Given the description of an element on the screen output the (x, y) to click on. 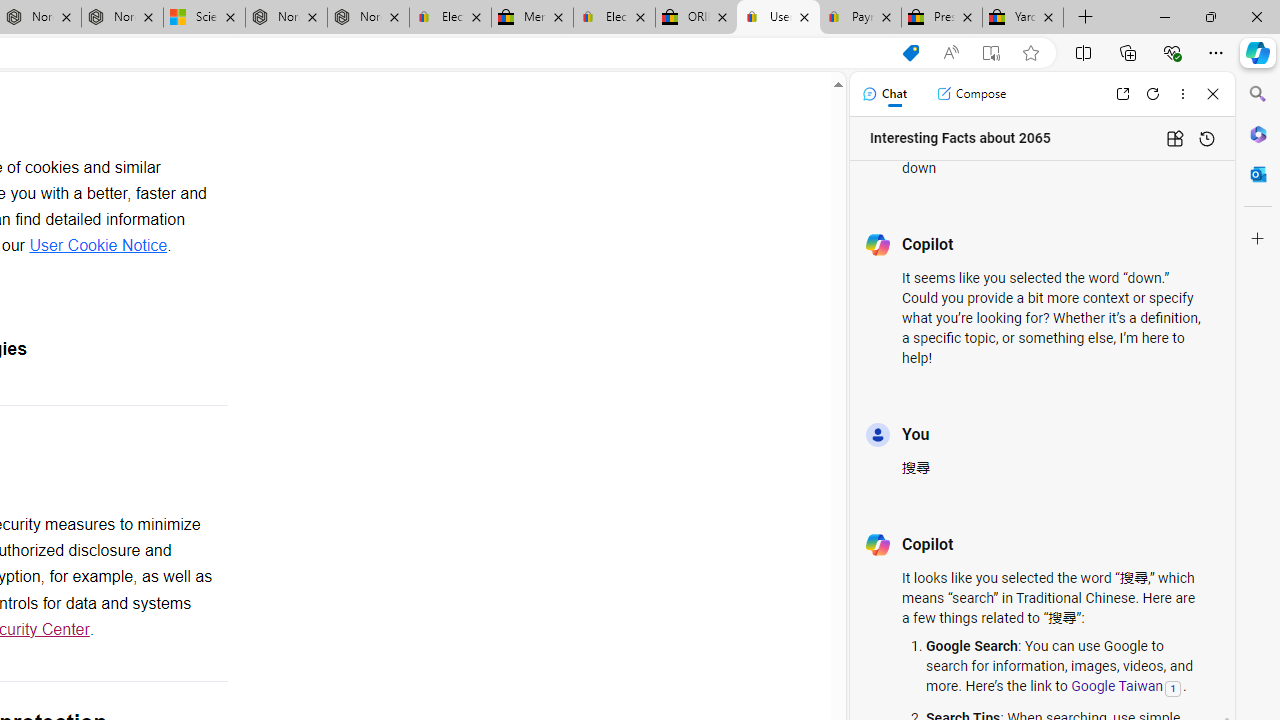
Nordace - Summer Adventures 2024 (285, 17)
Yard, Garden & Outdoor Living (1023, 17)
